Given the description of an element on the screen output the (x, y) to click on. 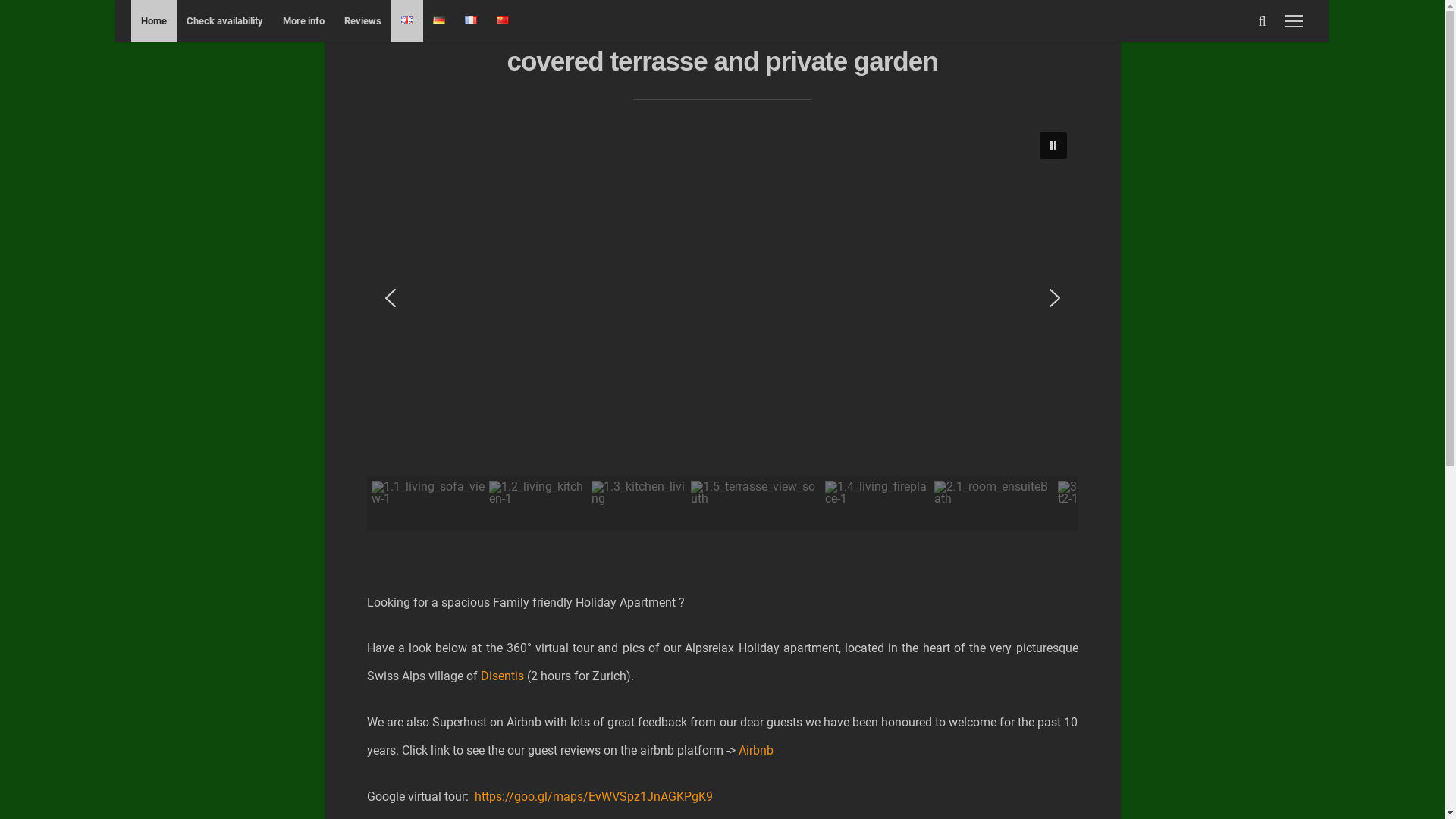
More info Element type: text (303, 20)
Reviews Element type: text (362, 20)
Home Element type: text (153, 20)
AlpsRelax.ch Element type: text (722, 34)
Disentis Element type: text (502, 675)
https://goo.gl/maps/EvWVSpz1JnAGKPgK9 Element type: text (593, 796)
Airbnb Element type: text (755, 750)
Check availability Element type: text (224, 20)
